Given the description of an element on the screen output the (x, y) to click on. 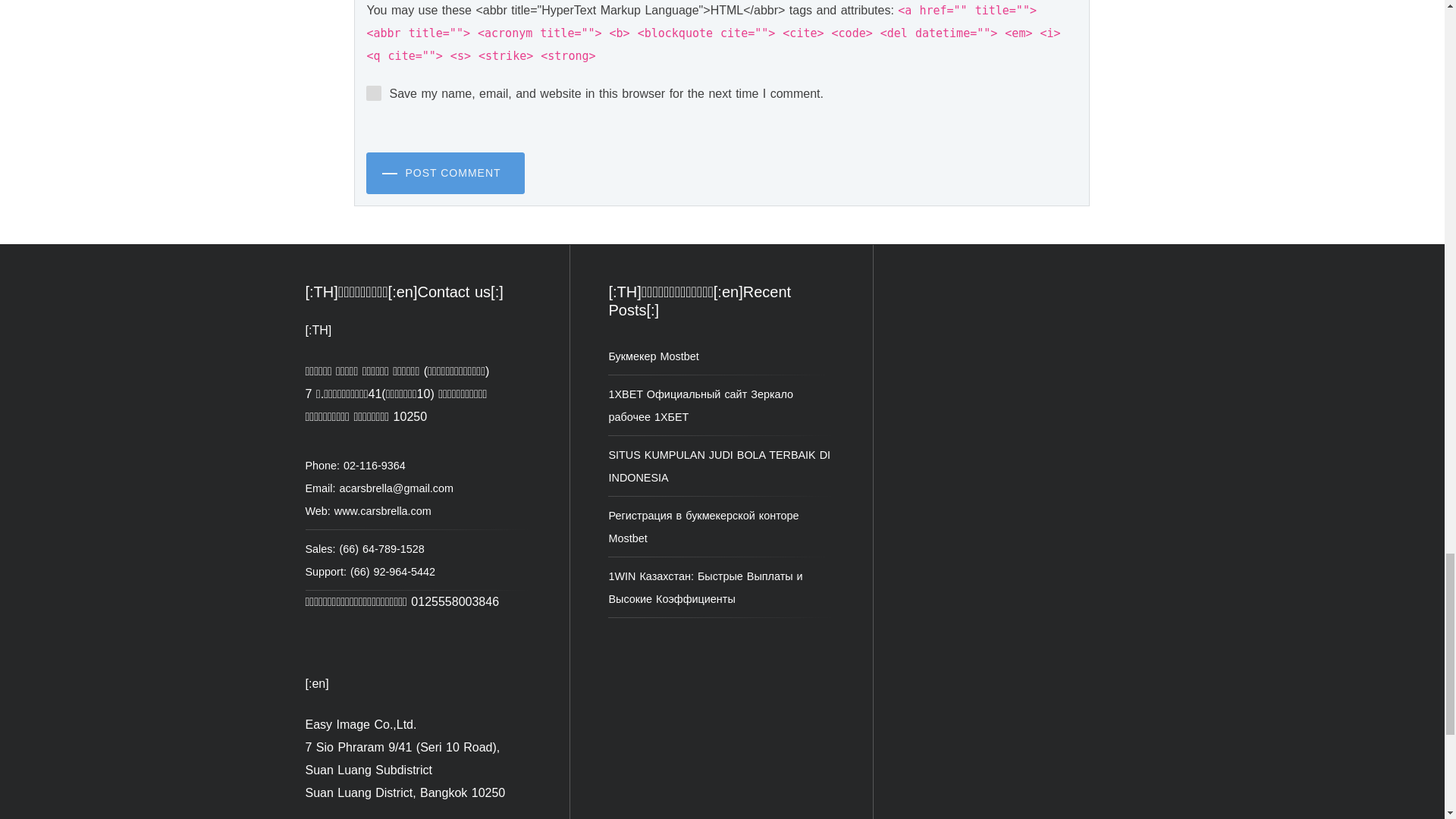
SITUS KUMPULAN JUDI BOLA TERBAIK DI INDONESIA (718, 466)
yes (373, 92)
POST COMMENT (445, 173)
